Given the description of an element on the screen output the (x, y) to click on. 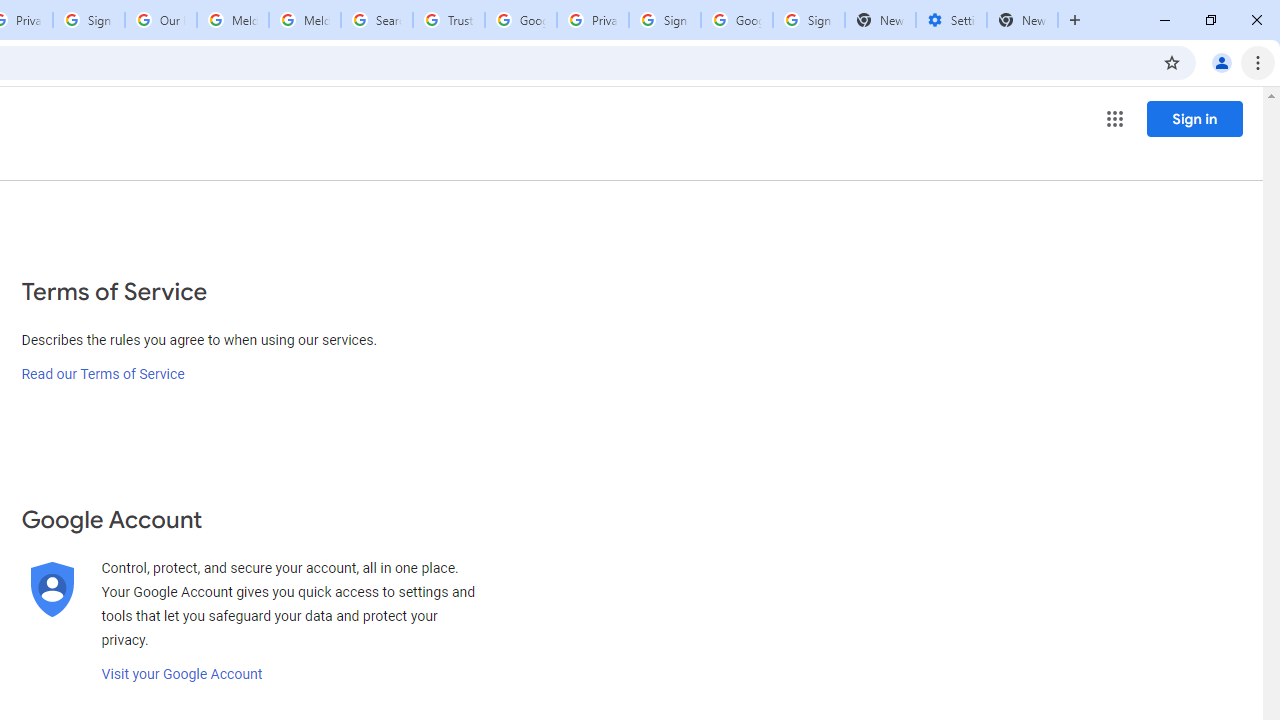
Google Cybersecurity Innovations - Google Safety Center (737, 20)
Read our Terms of Service (102, 374)
Sign in - Google Accounts (664, 20)
Search our Doodle Library Collection - Google Doodles (376, 20)
Google Ads - Sign in (520, 20)
Visit your Google Account (181, 674)
New Tab (1022, 20)
Settings - Addresses and more (951, 20)
